Given the description of an element on the screen output the (x, y) to click on. 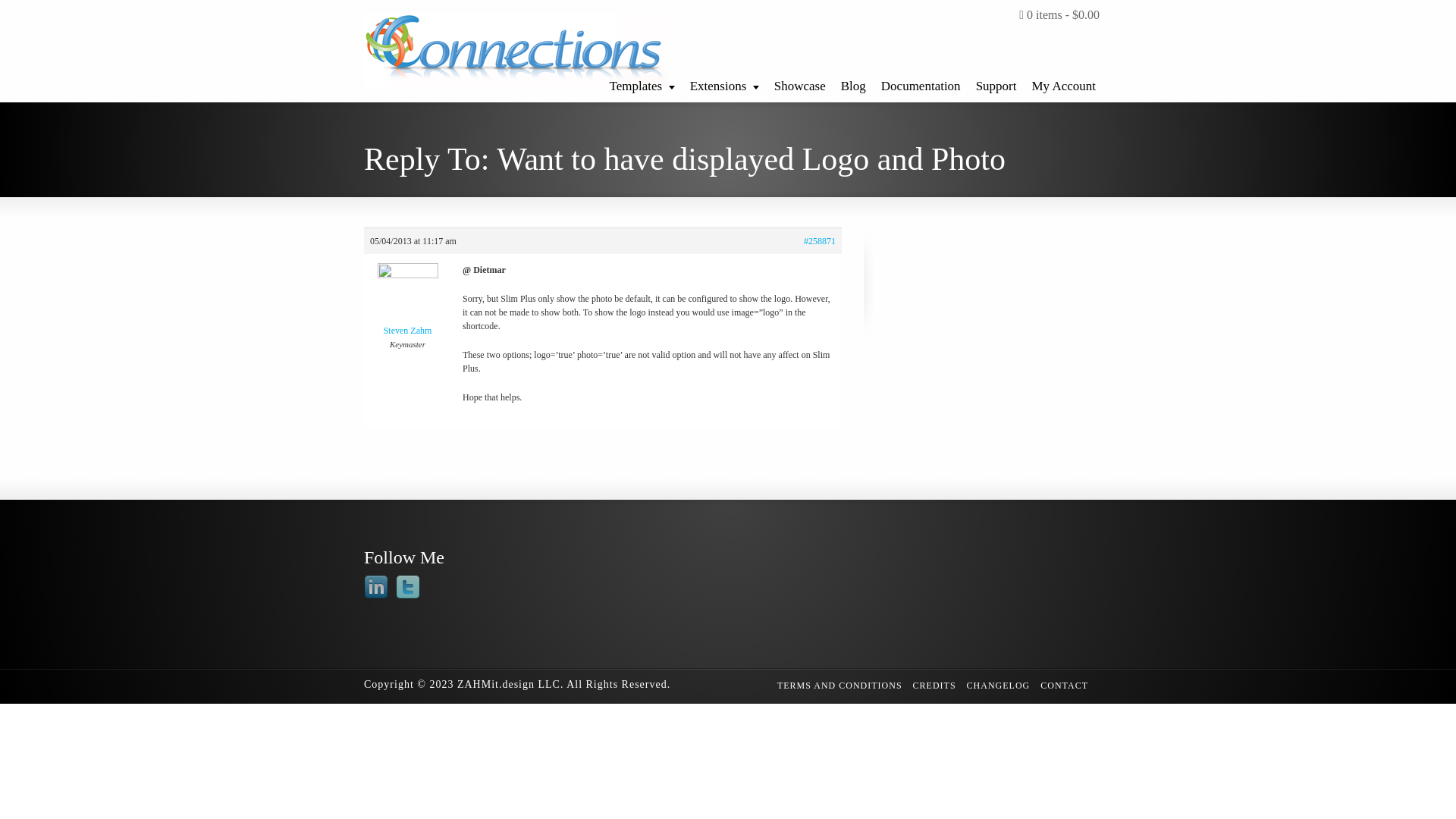
Start shopping (1059, 14)
Support (996, 81)
Follow Us on Twitter (408, 587)
Steven Zahm (407, 303)
Extensions (724, 81)
Follow Us on LinkedIn (376, 587)
View Steven Zahm's profile (407, 303)
My Account (1063, 81)
Documentation (920, 81)
Blog (852, 81)
